Given the description of an element on the screen output the (x, y) to click on. 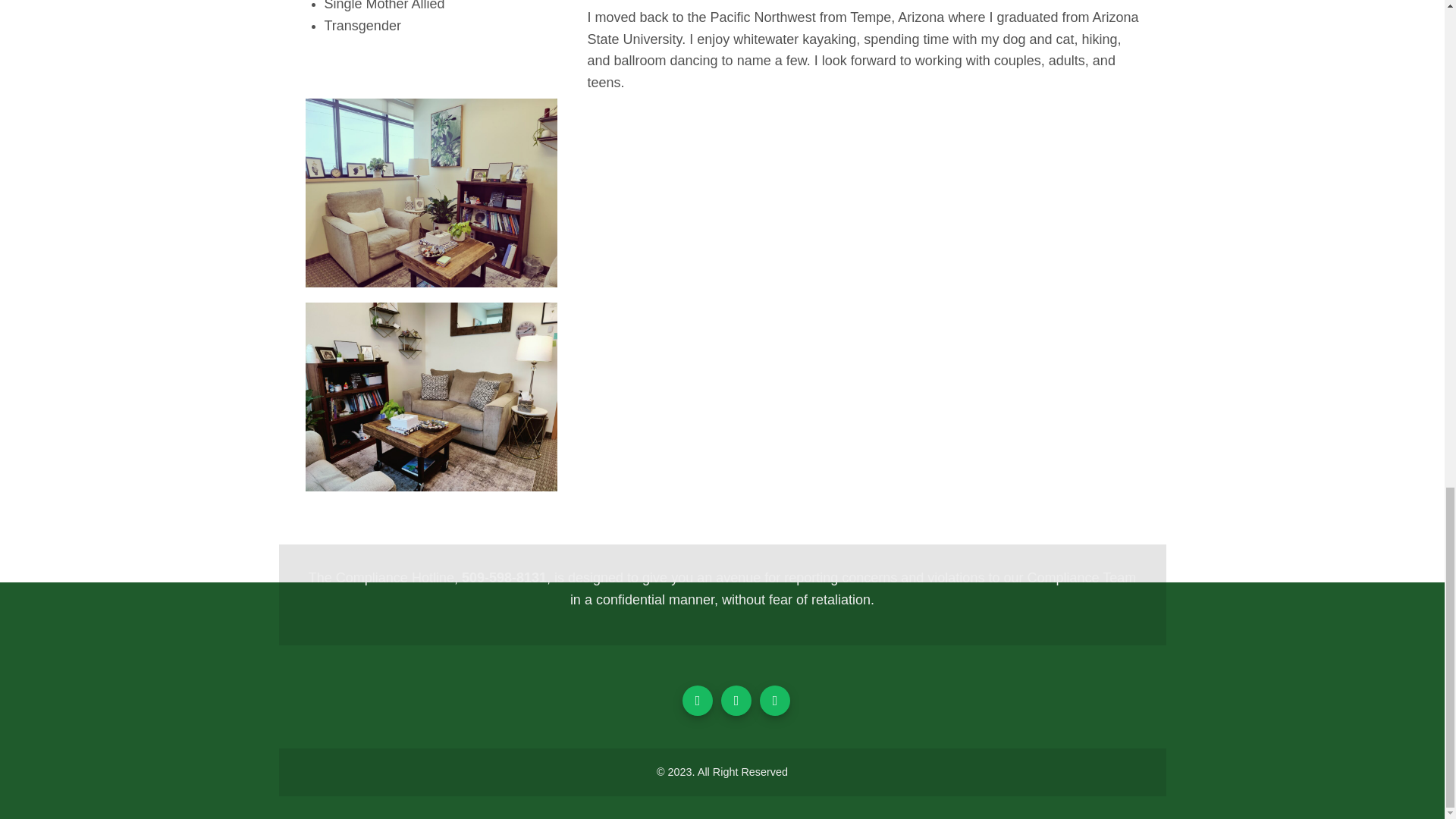
Instagram (735, 700)
Linkedin (775, 700)
Facebook (697, 700)
